Given the description of an element on the screen output the (x, y) to click on. 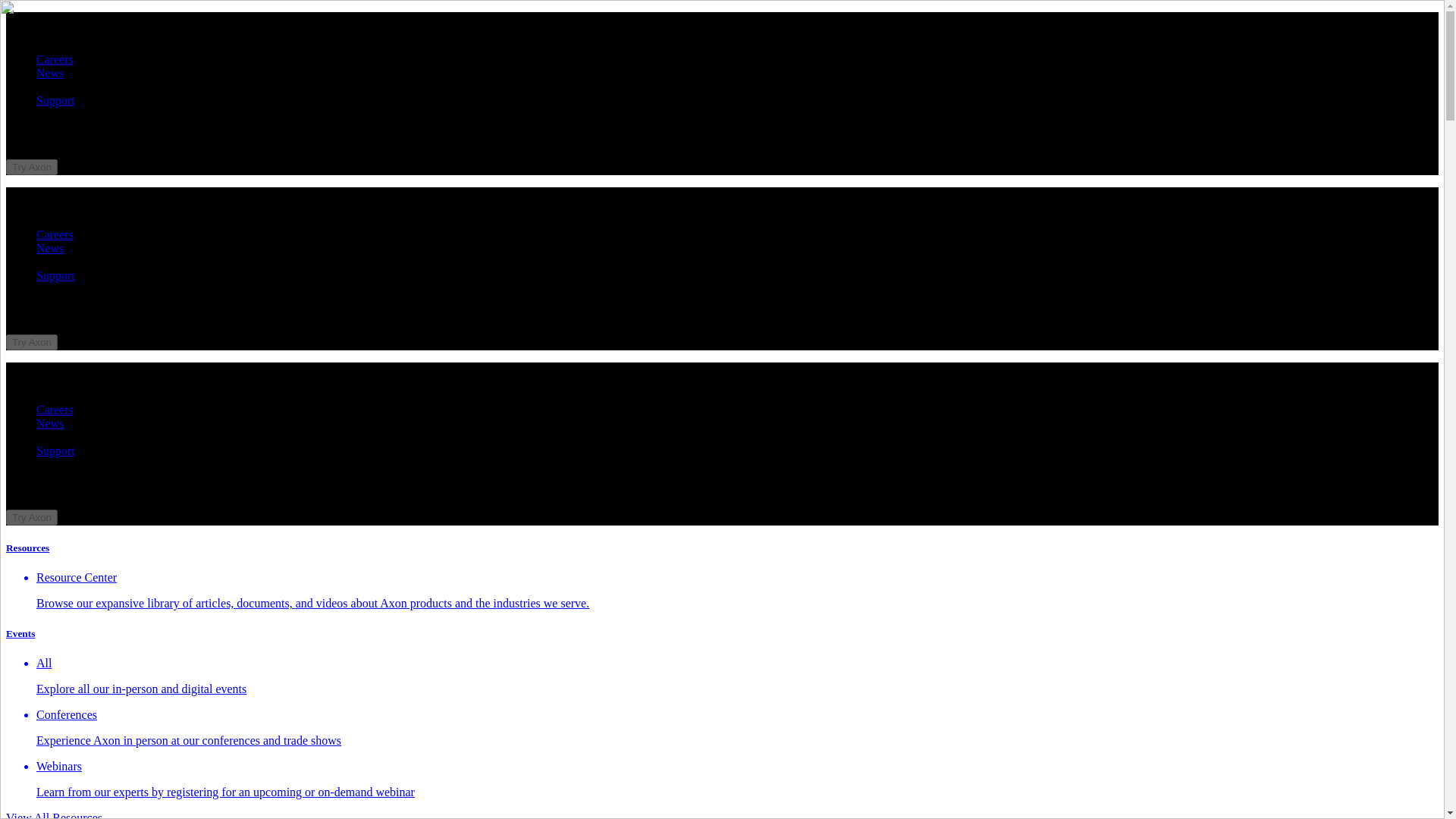
Support (55, 100)
Support (55, 450)
Try Axon (31, 166)
Try Axon (31, 165)
Try Axon (31, 341)
Careers (55, 409)
View All Resources (53, 815)
Resources (27, 547)
News (50, 247)
Careers (55, 234)
Support (55, 275)
Try Axon (31, 517)
Try Axon (31, 516)
Events (19, 633)
News (50, 422)
